Given the description of an element on the screen output the (x, y) to click on. 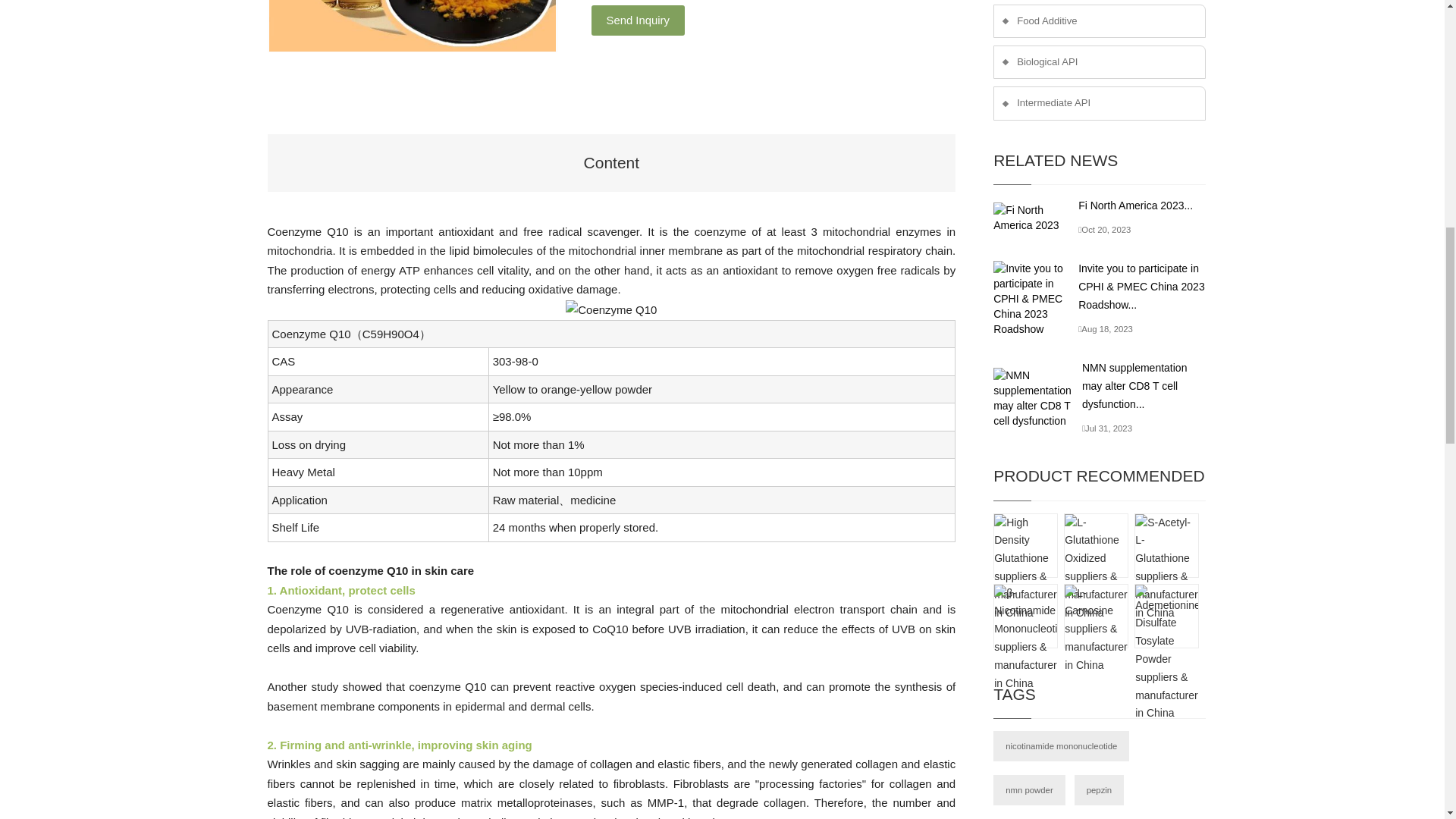
Fi North America 2023 (1035, 217)
Coenzyme Q10 (611, 310)
Send Inquiry (637, 20)
NMN supplementation may alter CD8 T cell dysfunction (1036, 397)
